Given the description of an element on the screen output the (x, y) to click on. 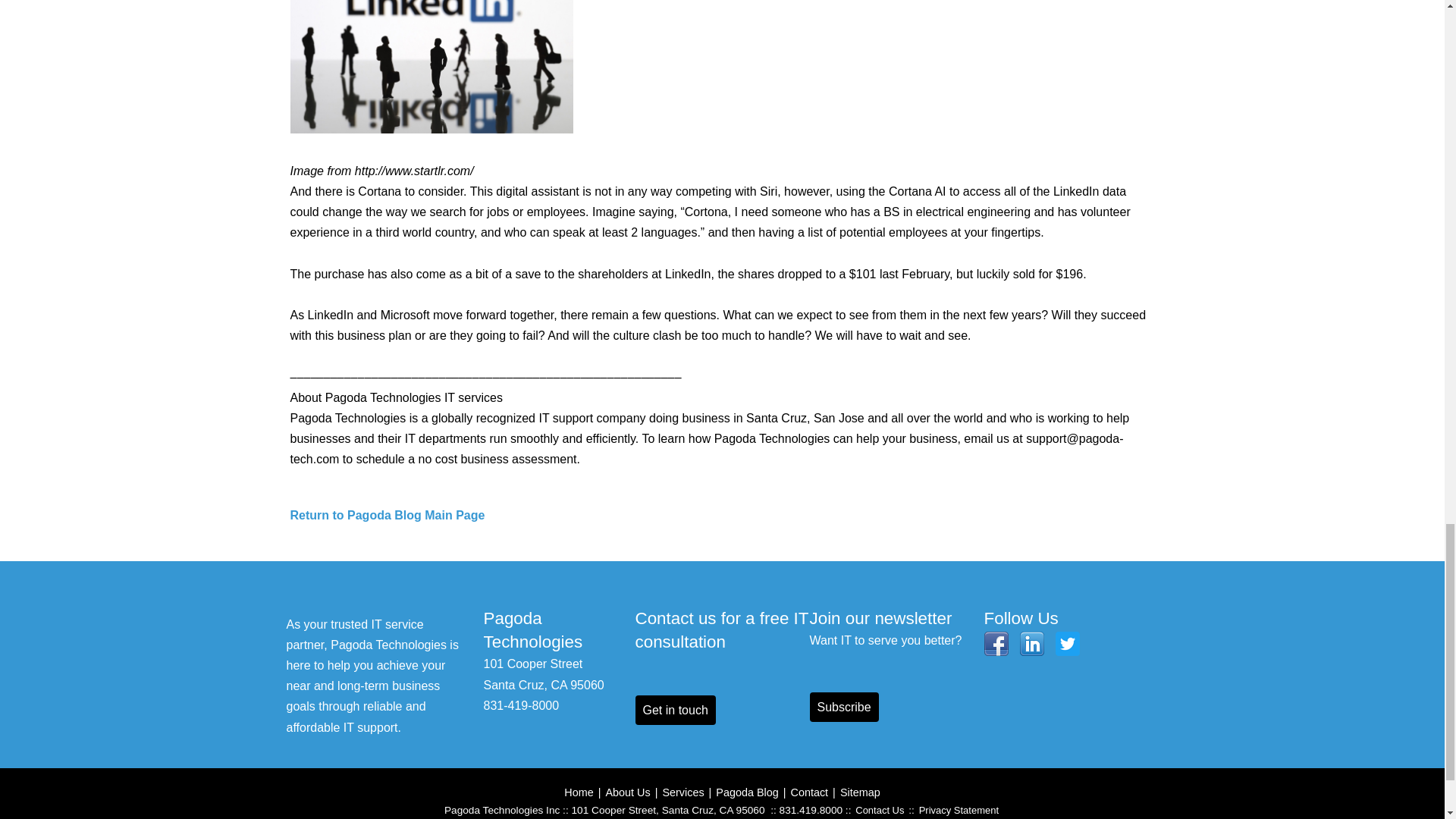
Get in touch (675, 709)
Contact Us (879, 809)
Home (578, 792)
Contact (809, 792)
Pagoda Blog (746, 792)
Return to Pagoda Blog Main Page (386, 514)
Subscribe (844, 706)
About Us (627, 792)
Privacy Statement (958, 809)
Sitemap (860, 792)
